Given the description of an element on the screen output the (x, y) to click on. 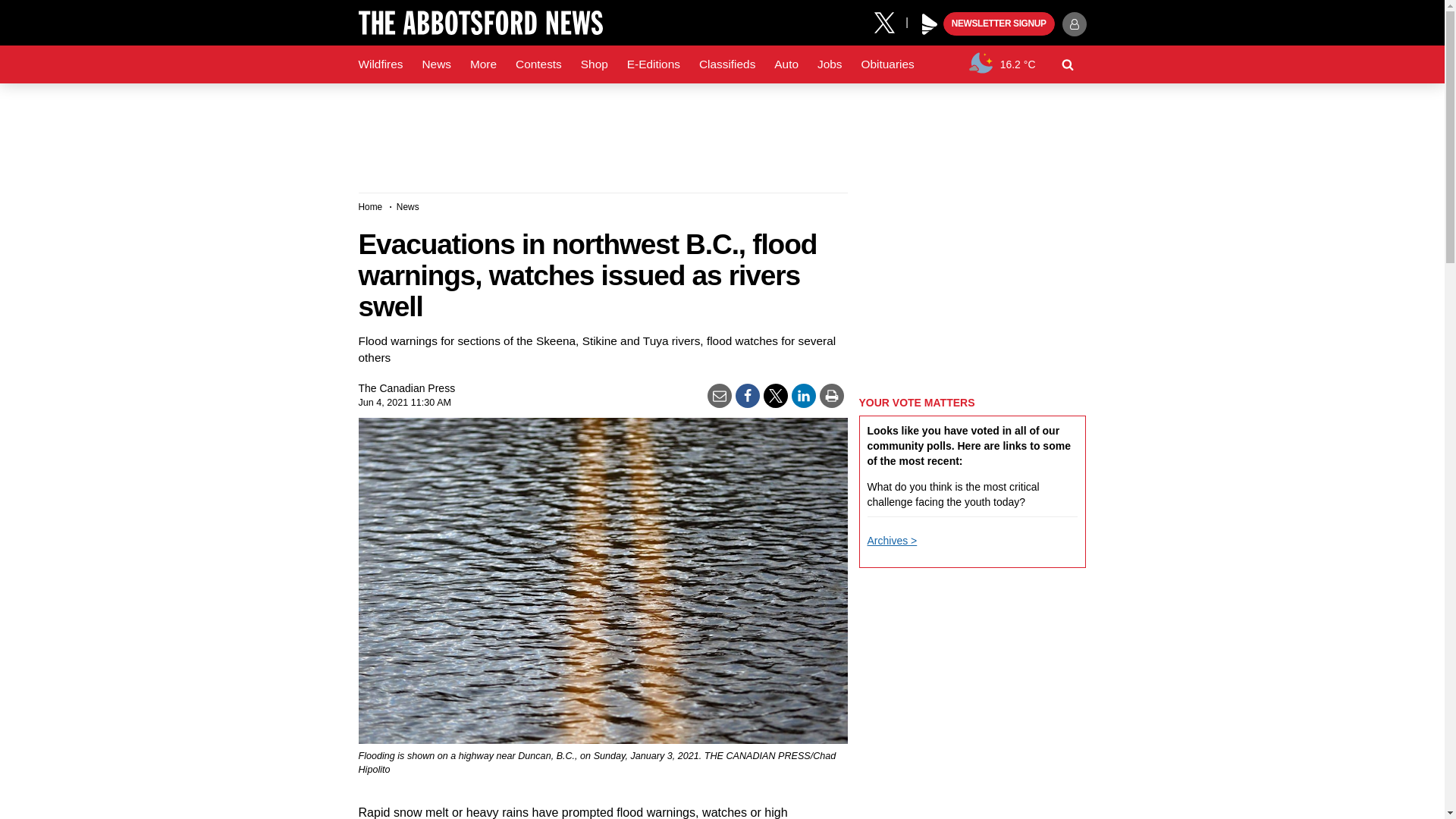
X (889, 21)
Play (929, 24)
Wildfires (380, 64)
Black Press Media (929, 24)
NEWSLETTER SIGNUP (998, 24)
News (435, 64)
